Given the description of an element on the screen output the (x, y) to click on. 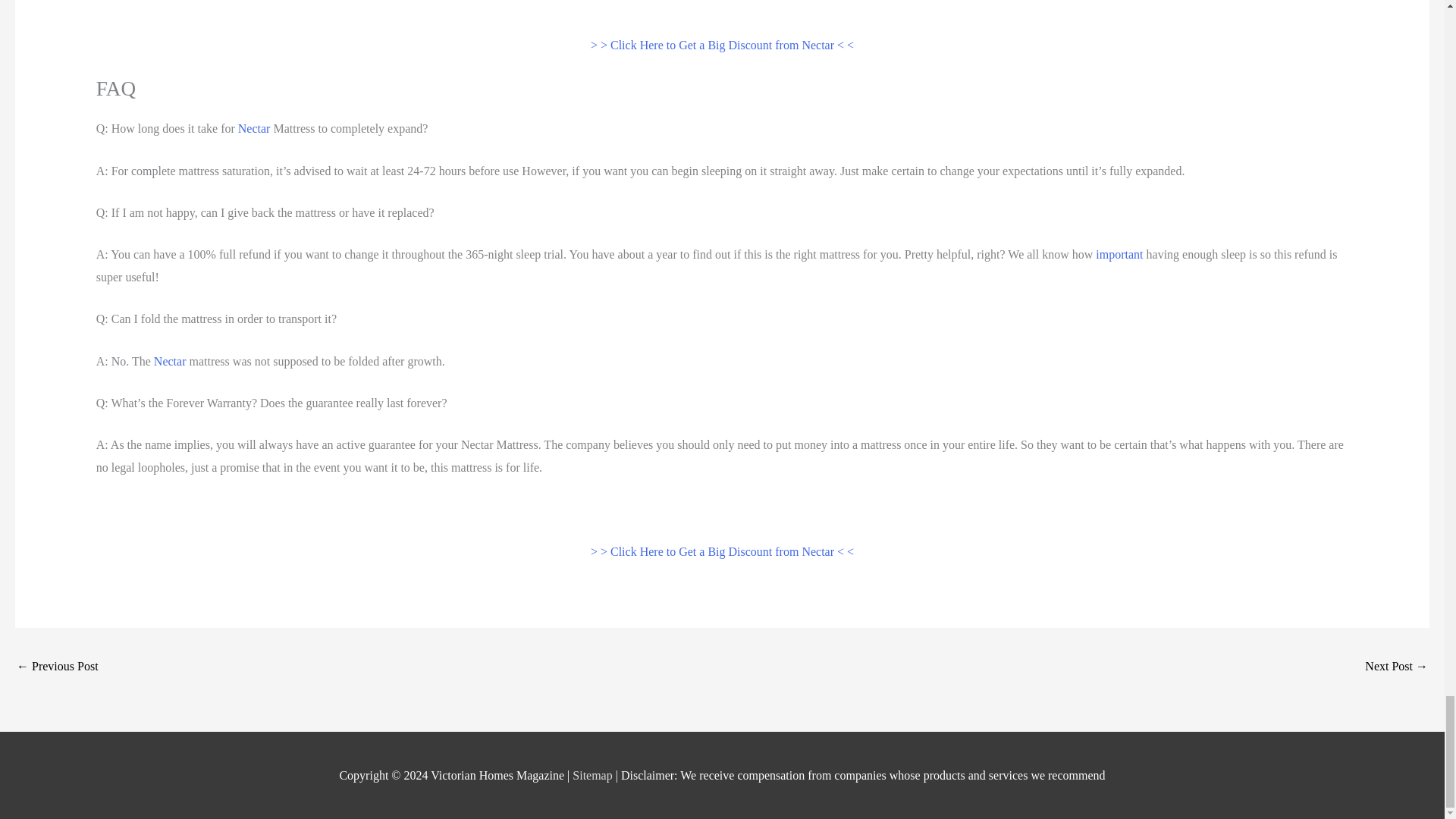
Nectar (170, 360)
Nectar (254, 128)
Sitemap (593, 775)
important (1119, 254)
Nectar Sleep Return My Mattress (1396, 667)
Nectar Mattress Referral Program (57, 667)
